Given the description of an element on the screen output the (x, y) to click on. 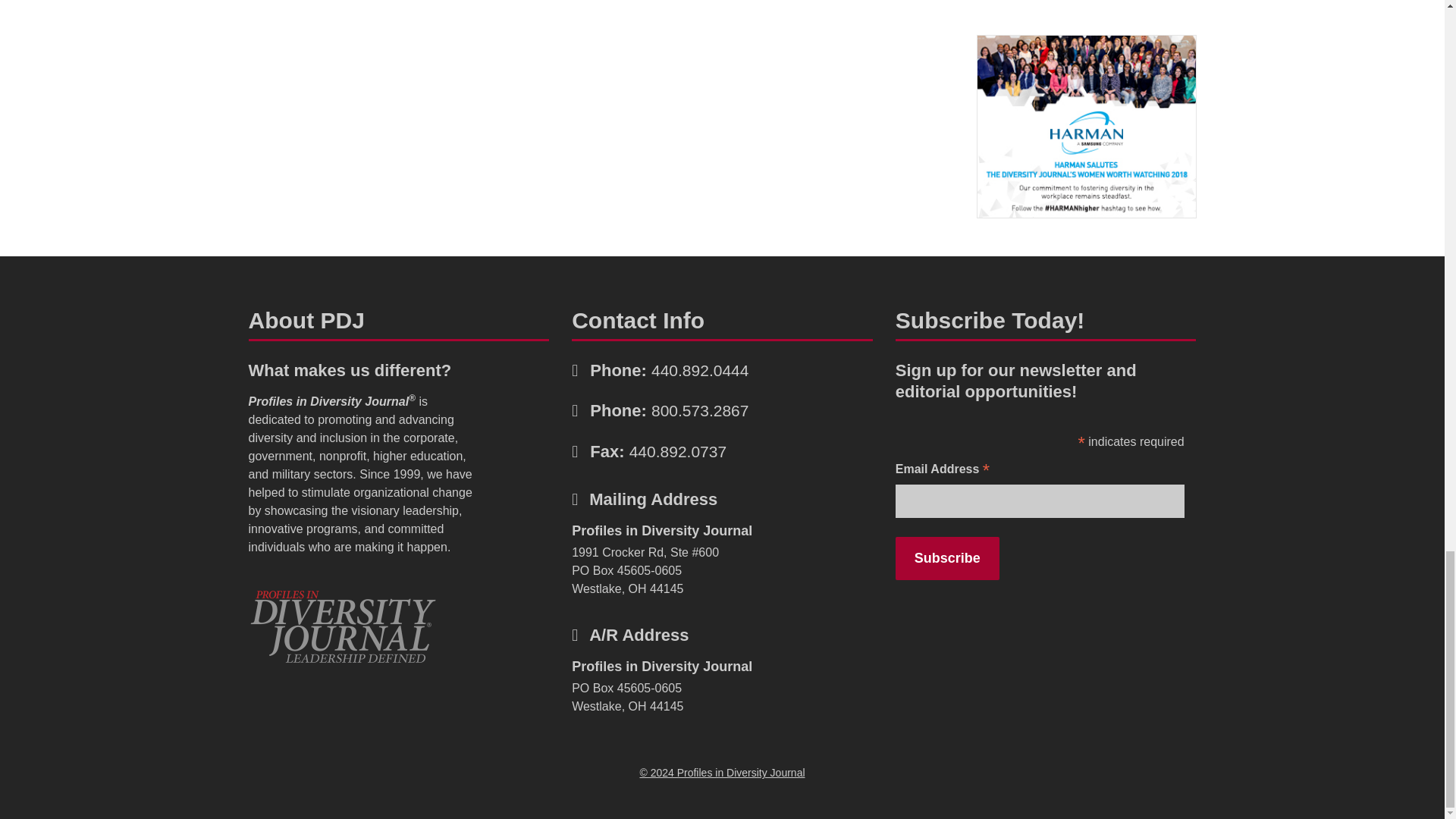
Subscribe (946, 558)
